Given the description of an element on the screen output the (x, y) to click on. 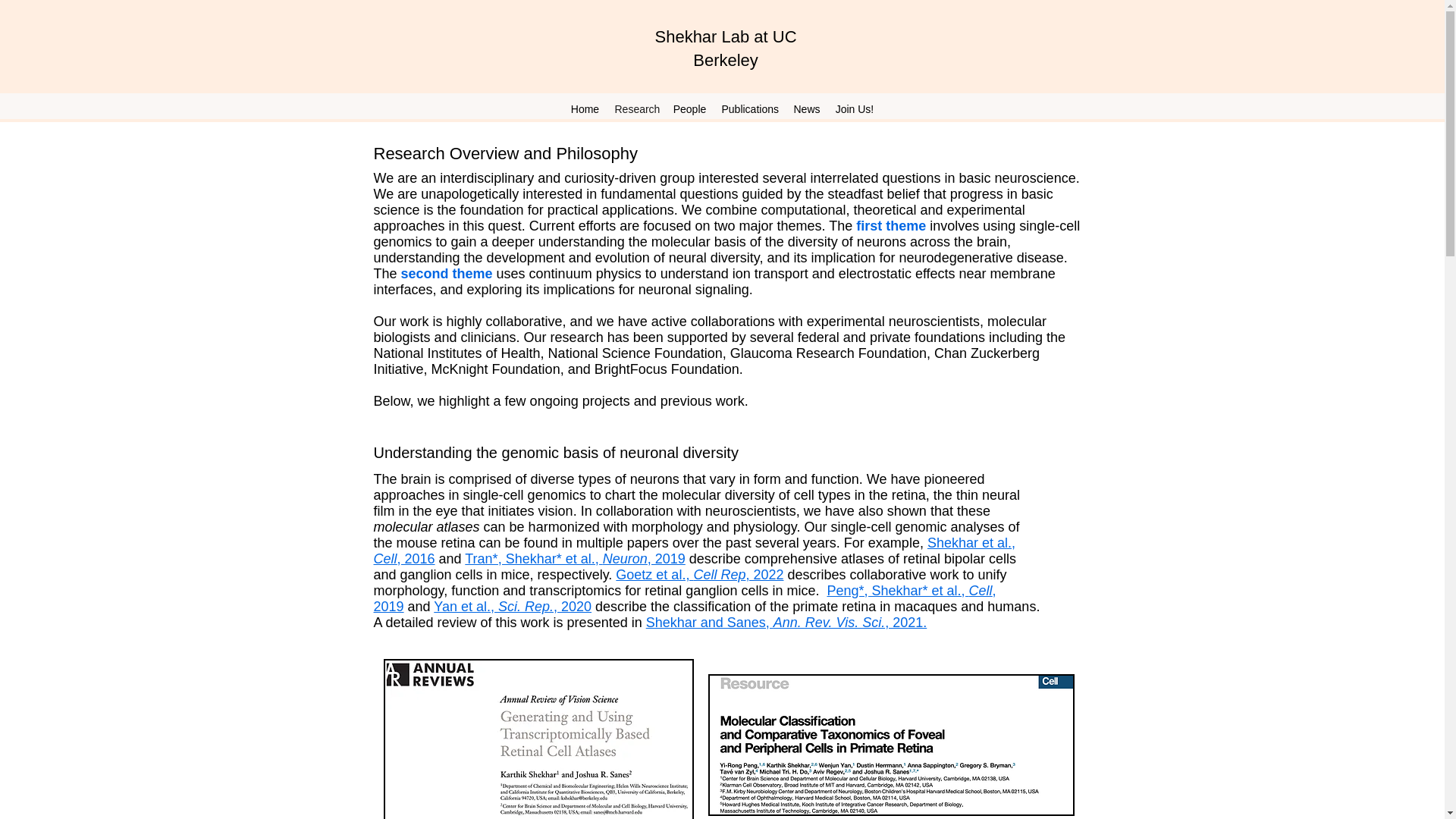
Join Us! (853, 108)
Goetz et al., Cell Rep, 2022 (699, 574)
Publications (749, 108)
Research (636, 108)
News (806, 108)
Yan et al., Sci. Rep., 2020 (512, 606)
Shekhar and Sanes, Ann. Rev. Vis. Sci., 2021. (786, 622)
People (689, 108)
Shekhar et al., Cell, 2016 (693, 550)
Home (584, 108)
